Given the description of an element on the screen output the (x, y) to click on. 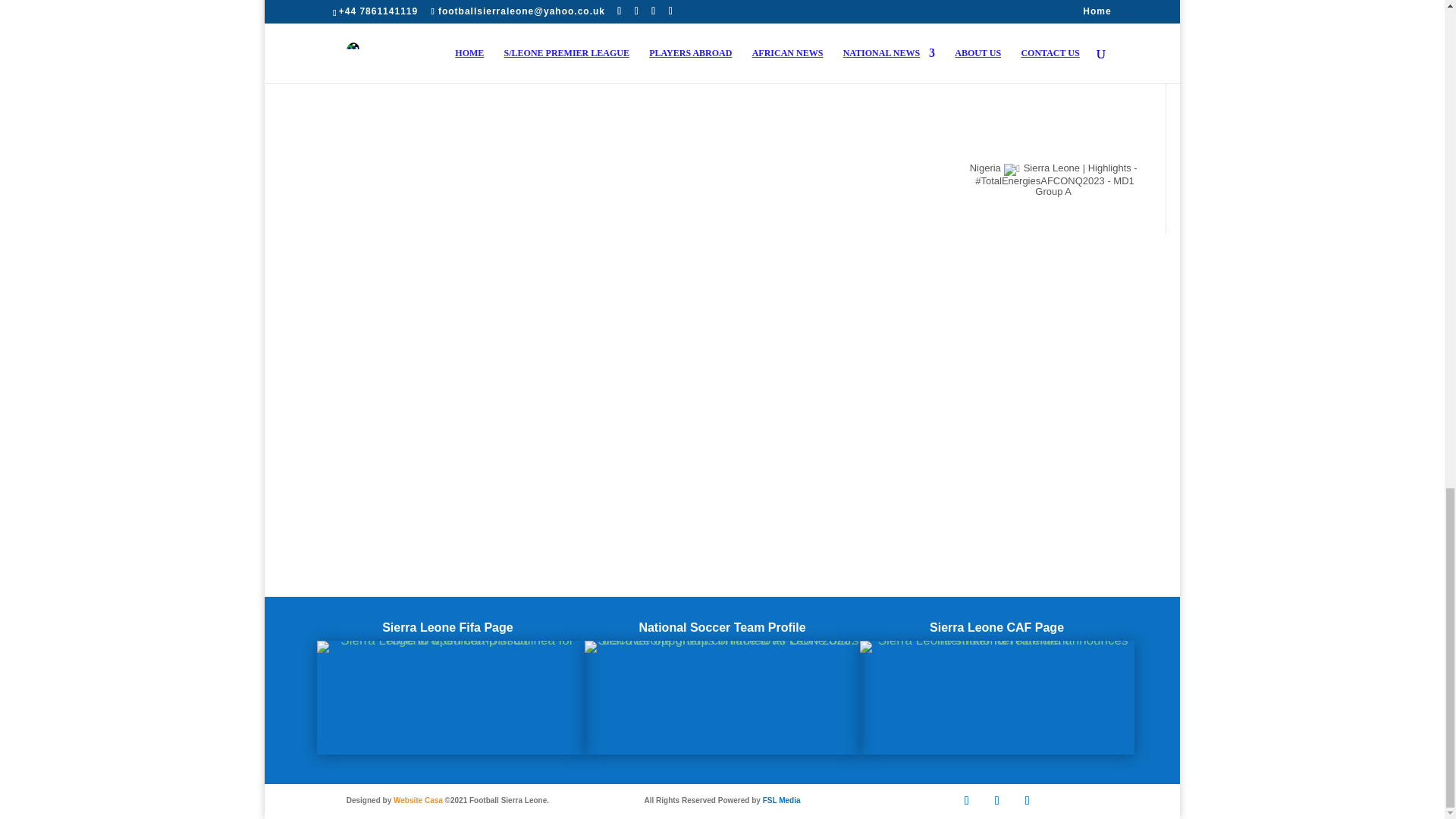
Follow on X (997, 800)
FSL Media (781, 800)
Website Casa (417, 800)
Follow on Instagram (1026, 800)
Follow on Facebook (966, 800)
